Given the description of an element on the screen output the (x, y) to click on. 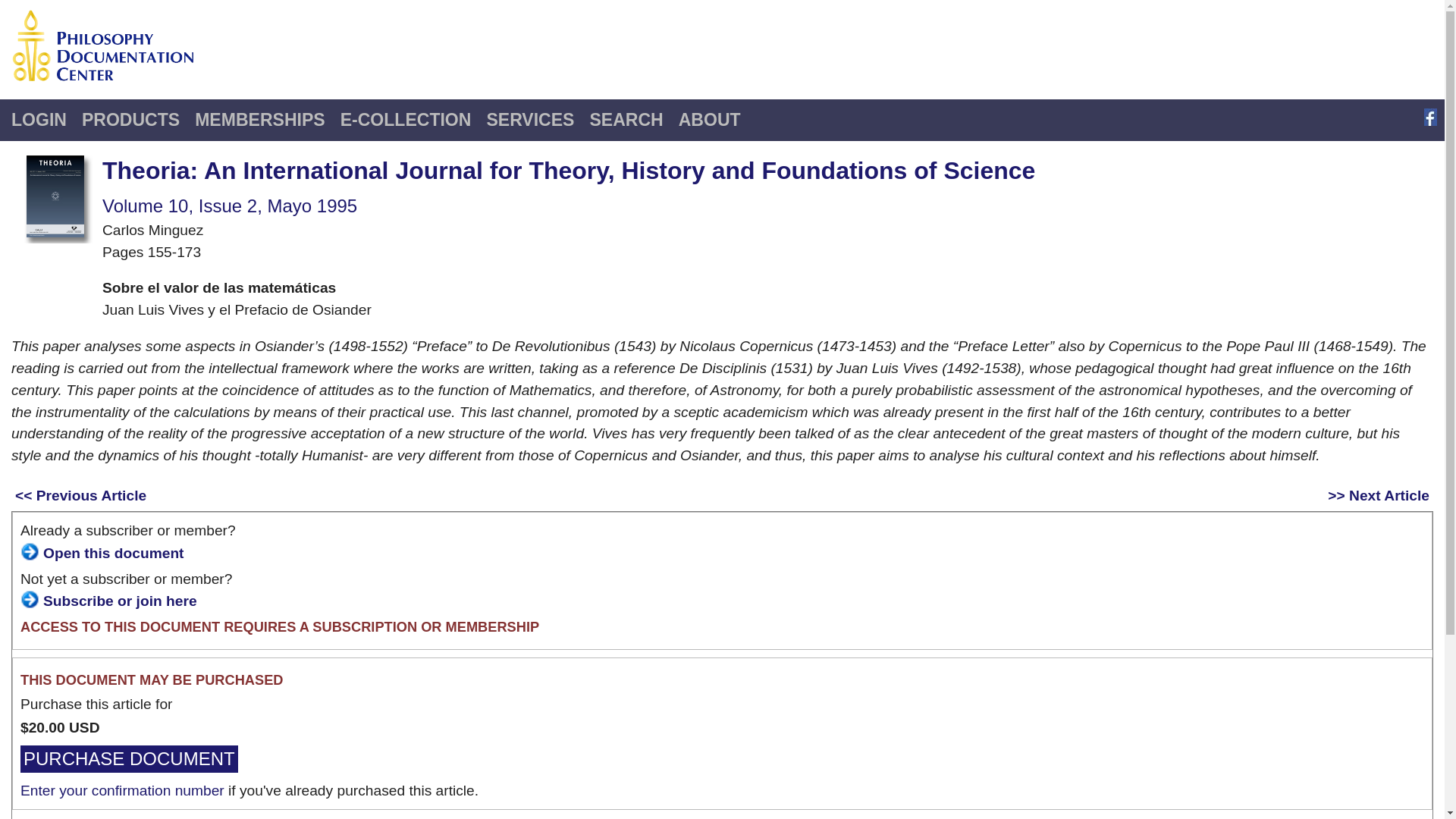
SERVICES (529, 119)
SEARCH (624, 119)
PURCHASE DOCUMENT (129, 758)
MEMBERSHIPS (259, 119)
PRODUCTS (130, 119)
ABOUT (709, 119)
E-COLLECTION (406, 119)
LOGIN (39, 119)
